Given the description of an element on the screen output the (x, y) to click on. 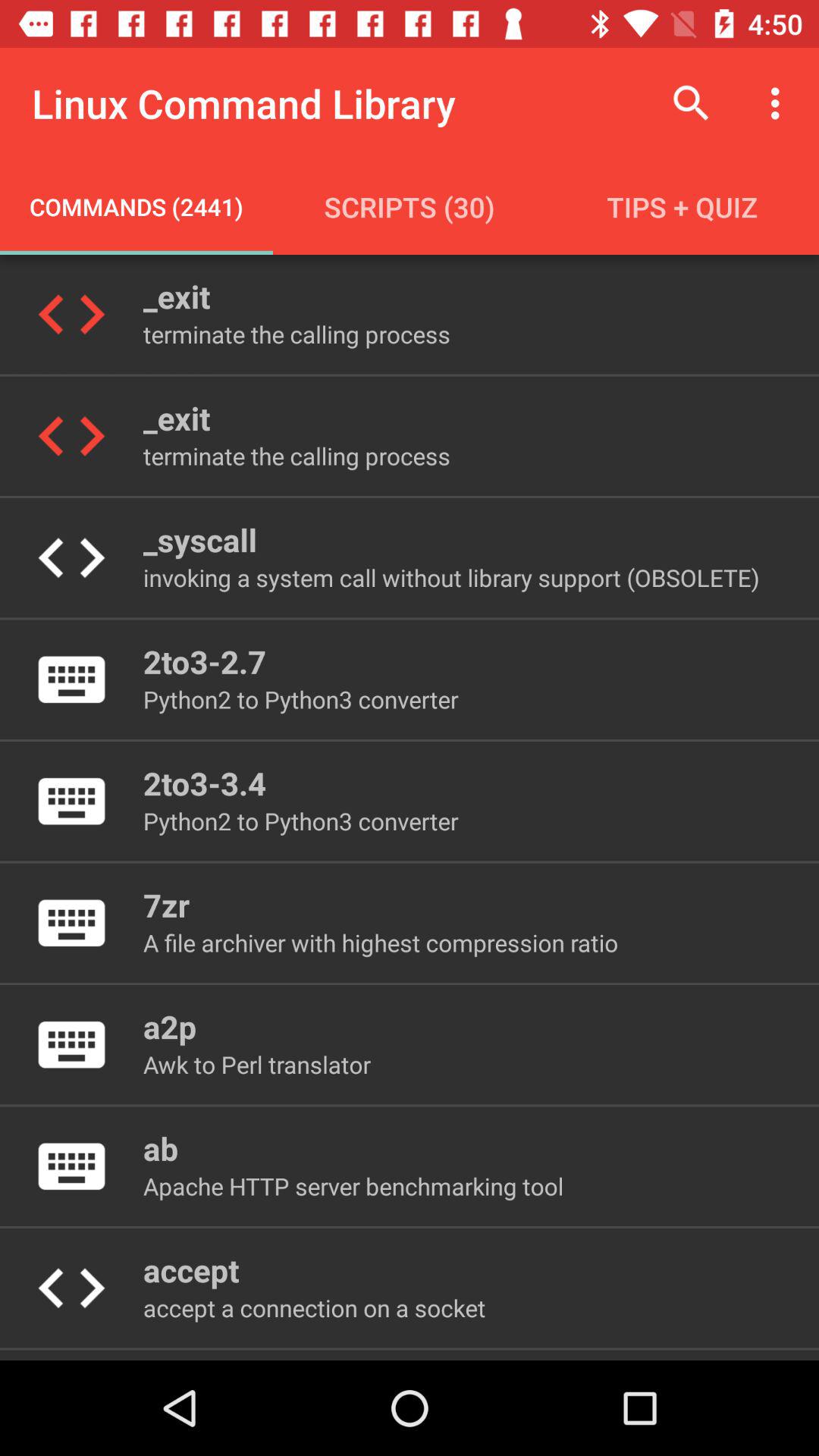
flip to a file archiver icon (380, 942)
